Given the description of an element on the screen output the (x, y) to click on. 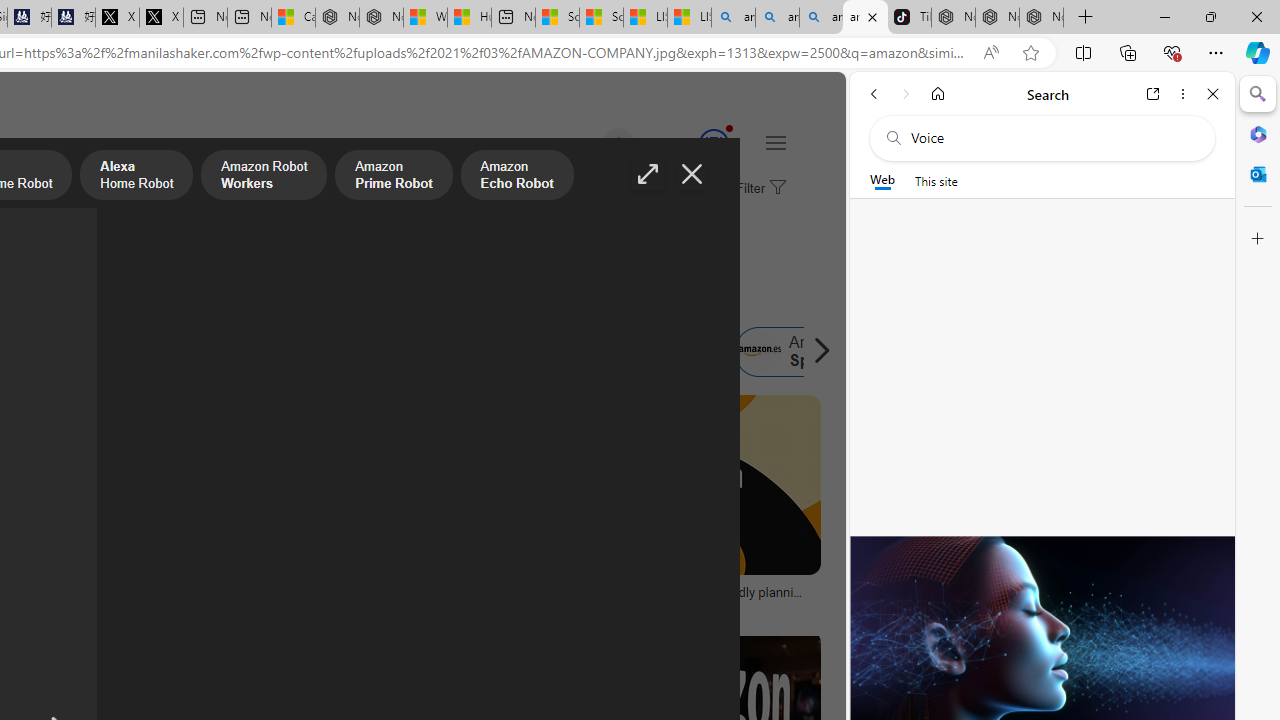
Customize (1258, 239)
Home (938, 93)
Nordace Siena Pro 15 Backpack (996, 17)
Amazon Forest (475, 351)
Amazon down? Current status and problems | Downdetector (368, 598)
Full screen (648, 173)
Web scope (882, 180)
amazon - Search (777, 17)
